Given the description of an element on the screen output the (x, y) to click on. 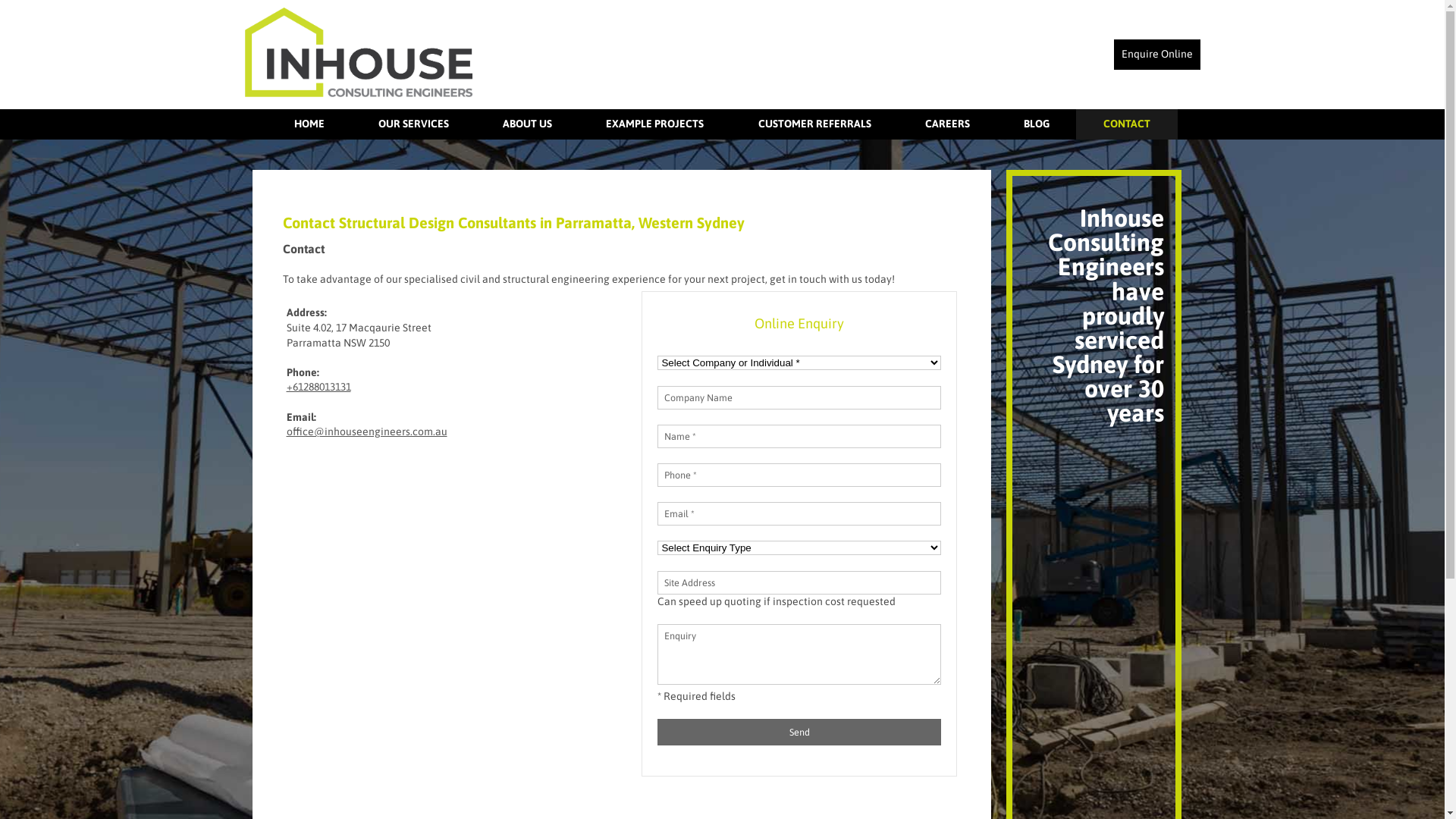
CAREERS Element type: text (946, 124)
CONTACT Element type: text (1126, 124)
HOME Element type: text (308, 124)
BLOG Element type: text (1036, 124)
OUR SERVICES Element type: text (413, 124)
CUSTOMER REFERRALS Element type: text (814, 124)
ABOUT US Element type: text (527, 124)
Enquire Online Element type: text (1156, 54)
EXAMPLE PROJECTS Element type: text (655, 124)
Send Element type: text (798, 731)
+61288013131 Element type: text (318, 386)
office@inhouseengineers.com.au Element type: text (366, 431)
